Given the description of an element on the screen output the (x, y) to click on. 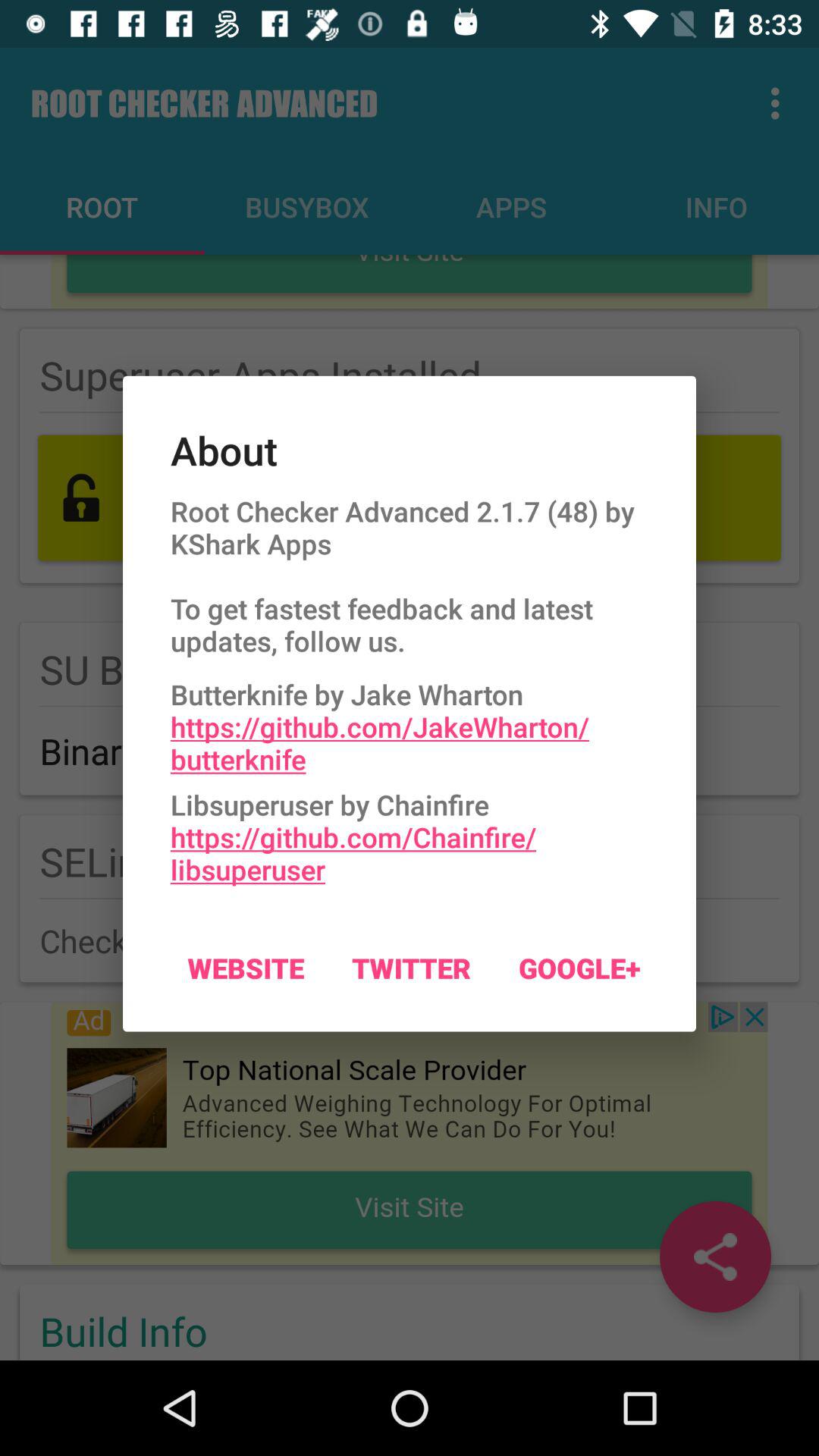
click item below the libsuperuser by chainfire item (579, 967)
